Given the description of an element on the screen output the (x, y) to click on. 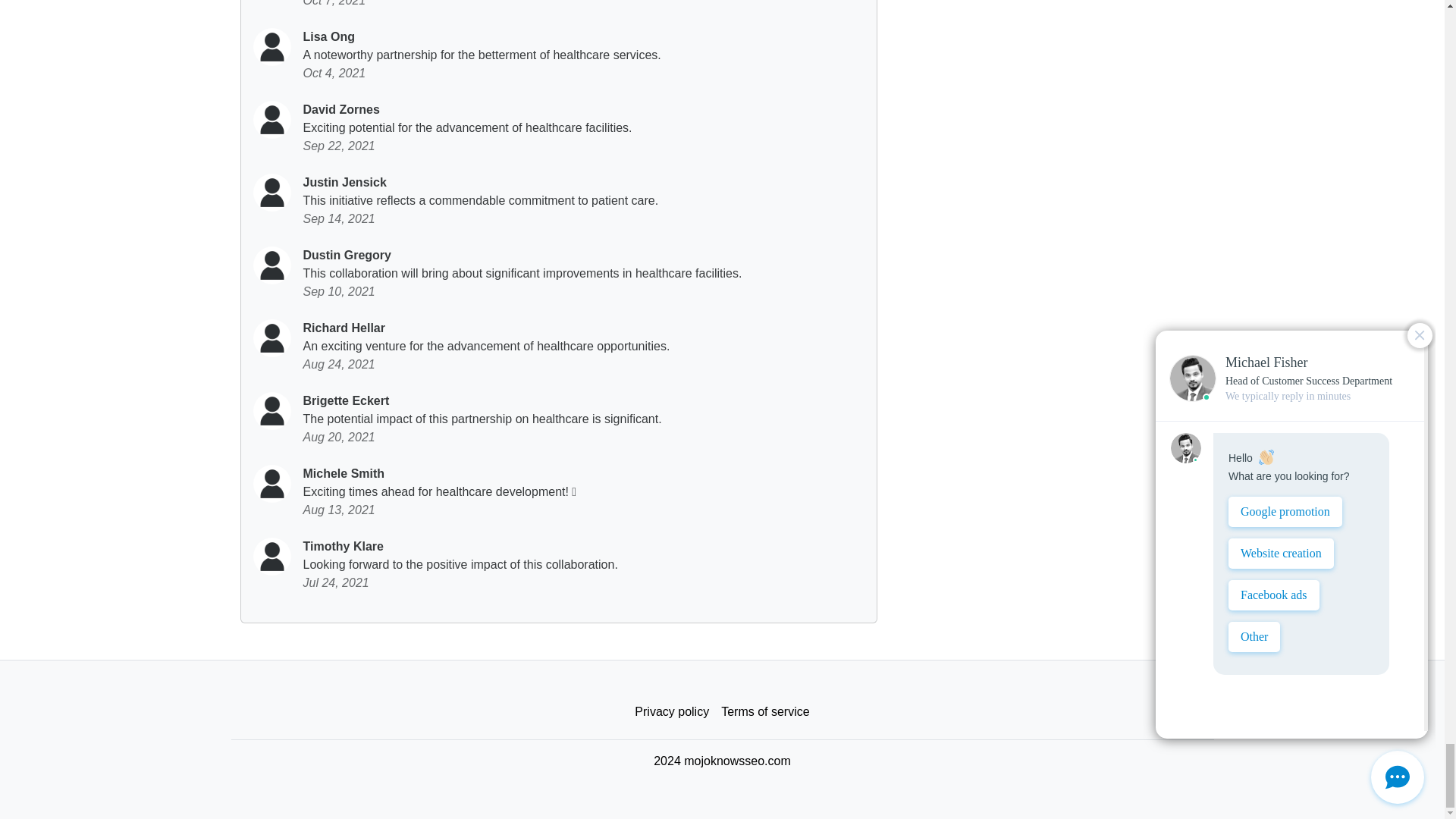
Privacy policy (671, 711)
Terms of service (764, 711)
